Given the description of an element on the screen output the (x, y) to click on. 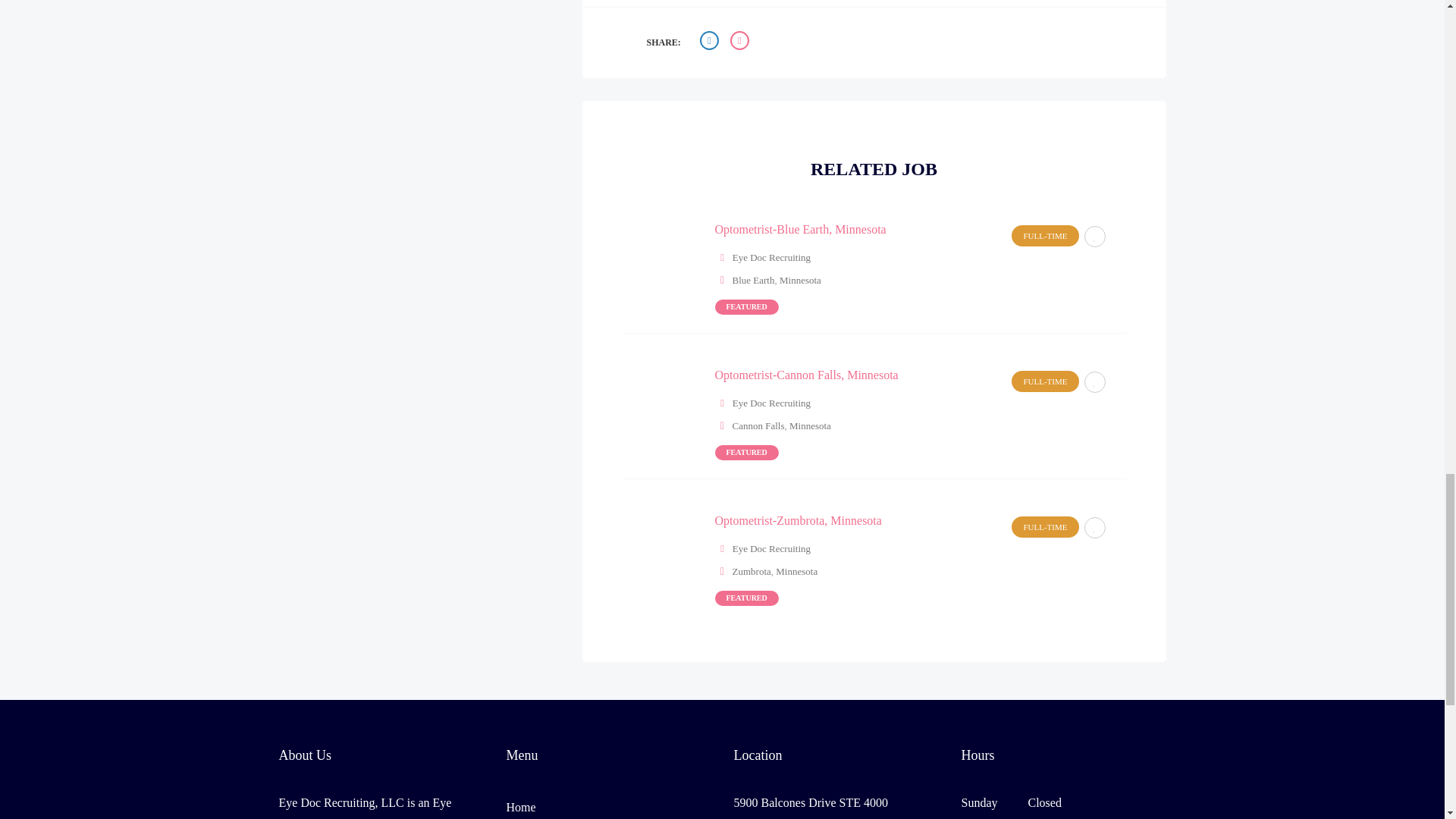
Share on Facebook (711, 42)
Optometrist-Blue Earth, Minnesota (799, 229)
Blue Earth (753, 279)
Share on Linkedin (741, 42)
FULL-TIME (1044, 235)
Minnesota (799, 279)
Optometrist-Cannon Falls, Minnesota (806, 375)
Eye Doc Recruiting (771, 402)
Eye Doc Recruiting (771, 256)
